Given the description of an element on the screen output the (x, y) to click on. 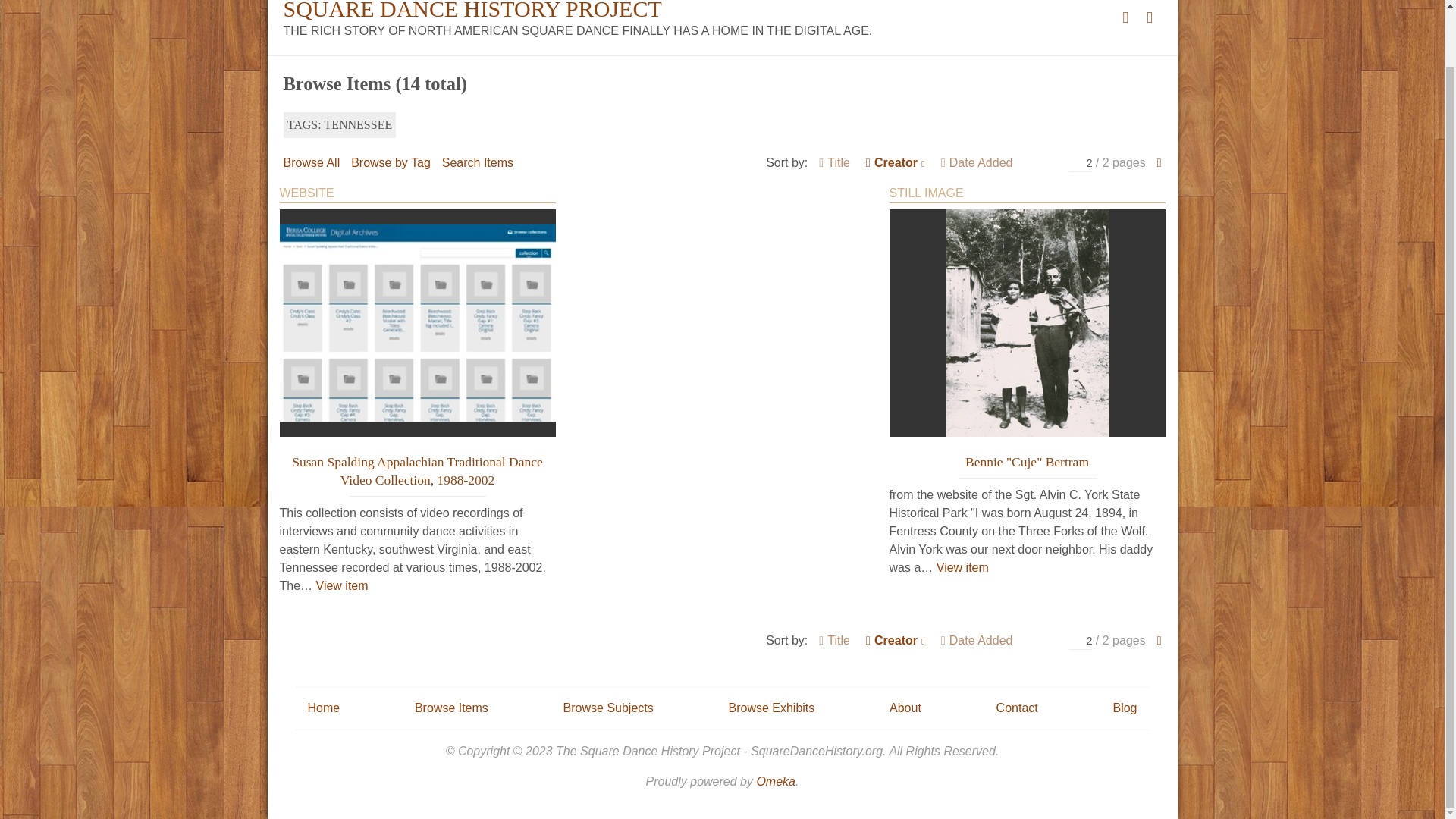
Title (834, 162)
Browse by Tag (390, 162)
View item (341, 586)
Search Items (477, 162)
SQUARE DANCE HISTORY PROJECT (472, 10)
Browse All (311, 162)
